Given the description of an element on the screen output the (x, y) to click on. 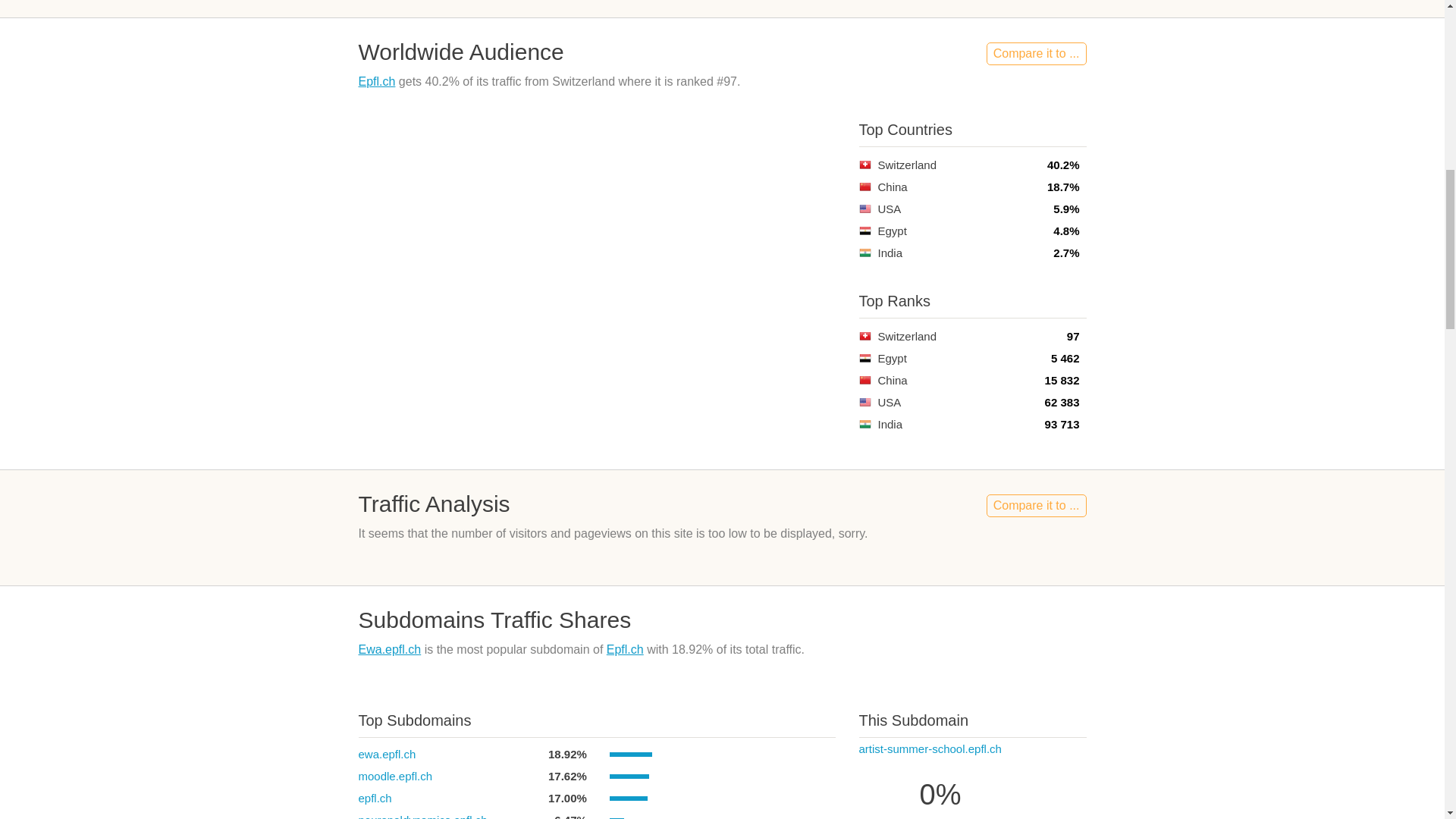
Egypt (864, 357)
USA (864, 402)
ewa.epfl.ch (386, 753)
China (864, 379)
moodle.epfl.ch (395, 775)
India (864, 424)
Ewa.epfl.ch (389, 649)
Epfl.ch (625, 649)
Switzerland (864, 336)
Epfl.ch (376, 81)
neuronaldynamics.epfl.ch (422, 816)
Compare it to ... (1036, 505)
artist-summer-school.epfl.ch (930, 748)
India (864, 252)
